Given the description of an element on the screen output the (x, y) to click on. 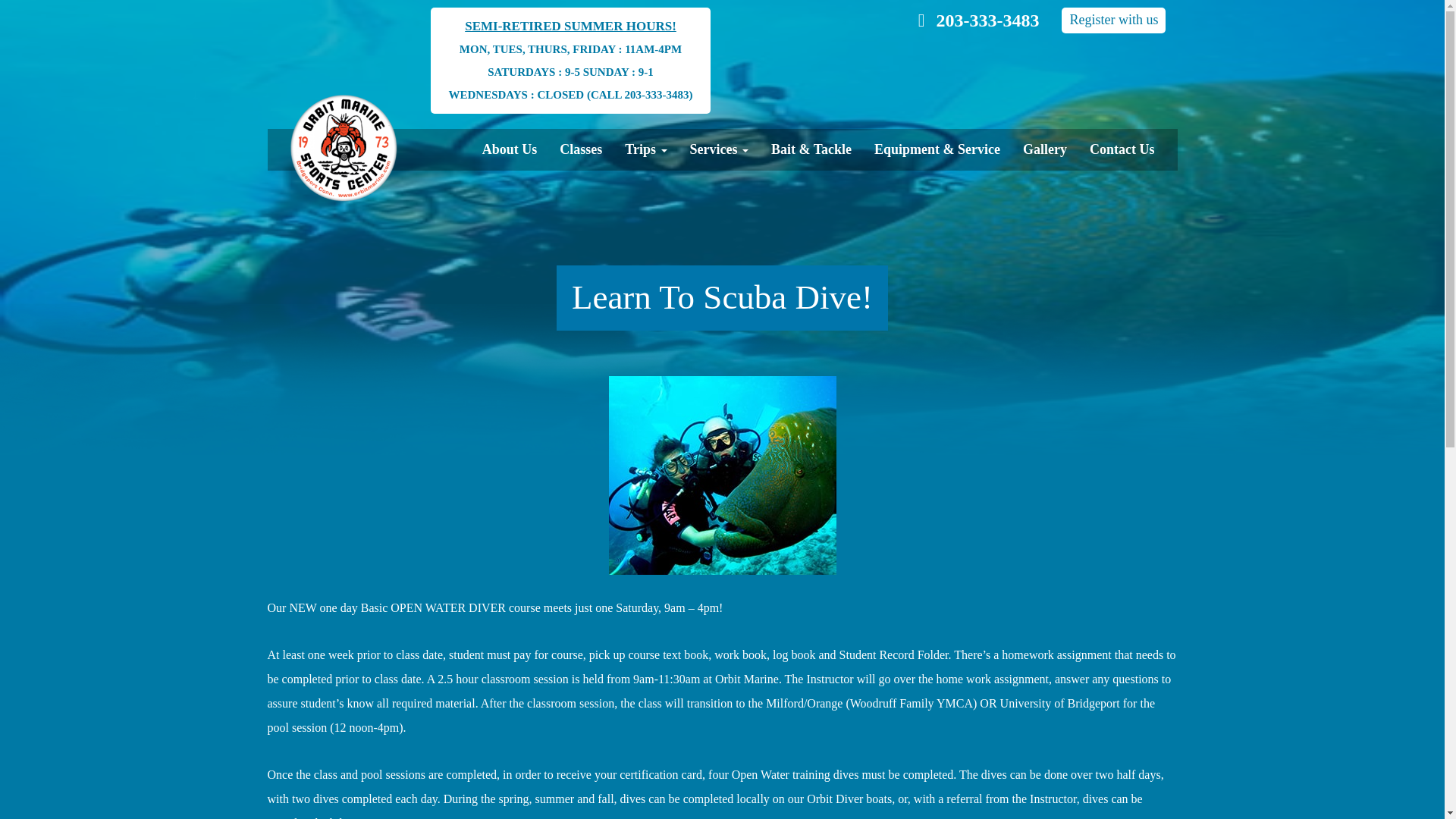
Register with us (1113, 20)
Register With Us (1113, 20)
About Us (509, 148)
Contact Us (1122, 148)
Orbit Marine (332, 147)
Classes (580, 148)
Services (719, 148)
Gallery (1044, 148)
Orbit Marine (343, 147)
Classes (580, 148)
